Given the description of an element on the screen output the (x, y) to click on. 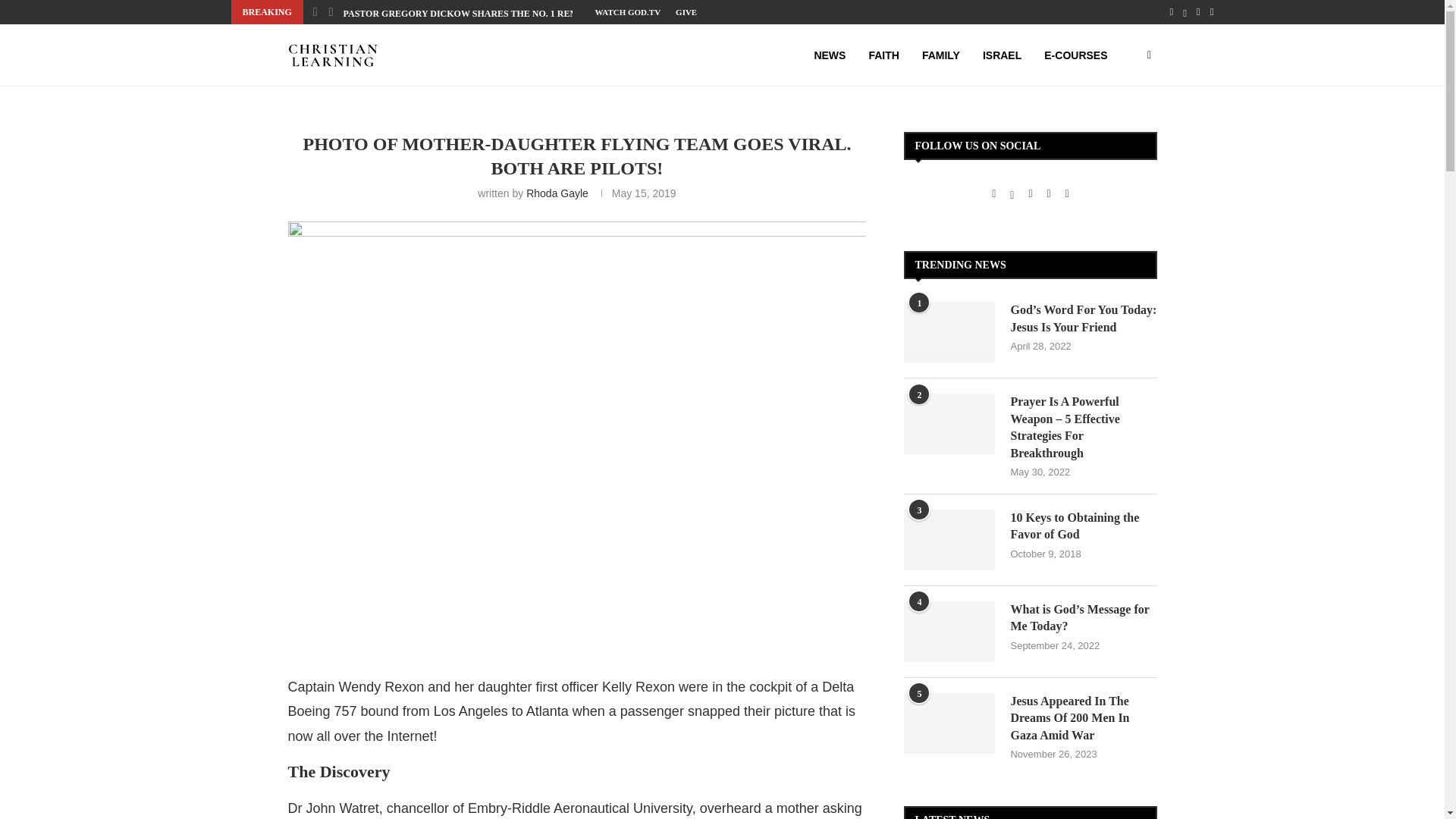
Rhoda Gayle (556, 193)
E-COURSES (1074, 55)
WATCH GOD.TV (627, 12)
